Given the description of an element on the screen output the (x, y) to click on. 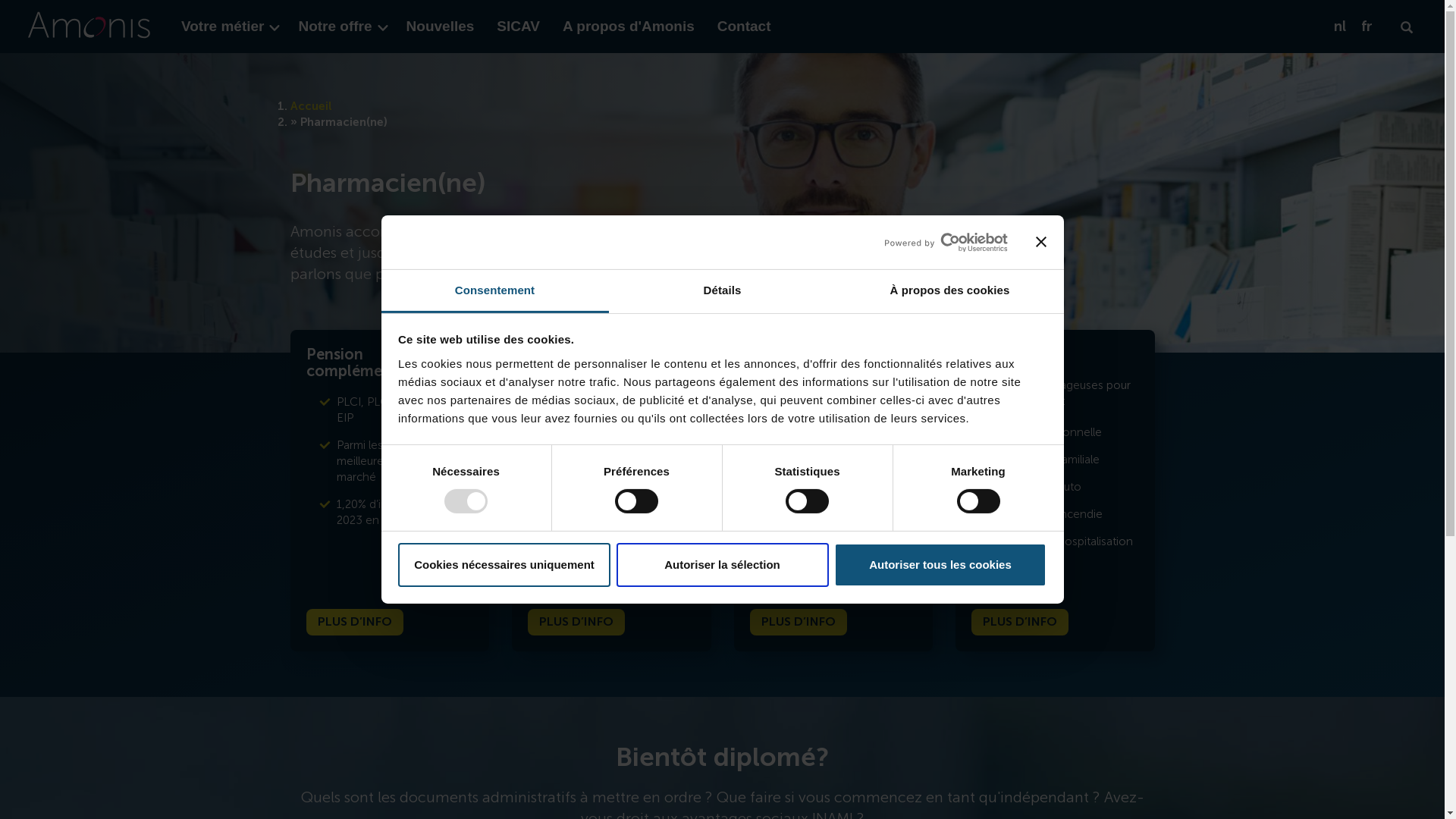
Consentement Element type: text (494, 291)
Accueil Element type: text (310, 105)
Aller au contenu principal Element type: text (0, 0)
Autoriser tous les cookies Element type: text (940, 564)
fr Element type: text (1366, 26)
Nouvelles Element type: text (440, 26)
Notre offre Element type: text (340, 26)
SICAV Element type: text (518, 26)
nl Element type: text (1339, 26)
Contact Element type: text (744, 26)
Accueil Element type: hover (88, 26)
A propos d'Amonis Element type: text (628, 26)
